Given the description of an element on the screen output the (x, y) to click on. 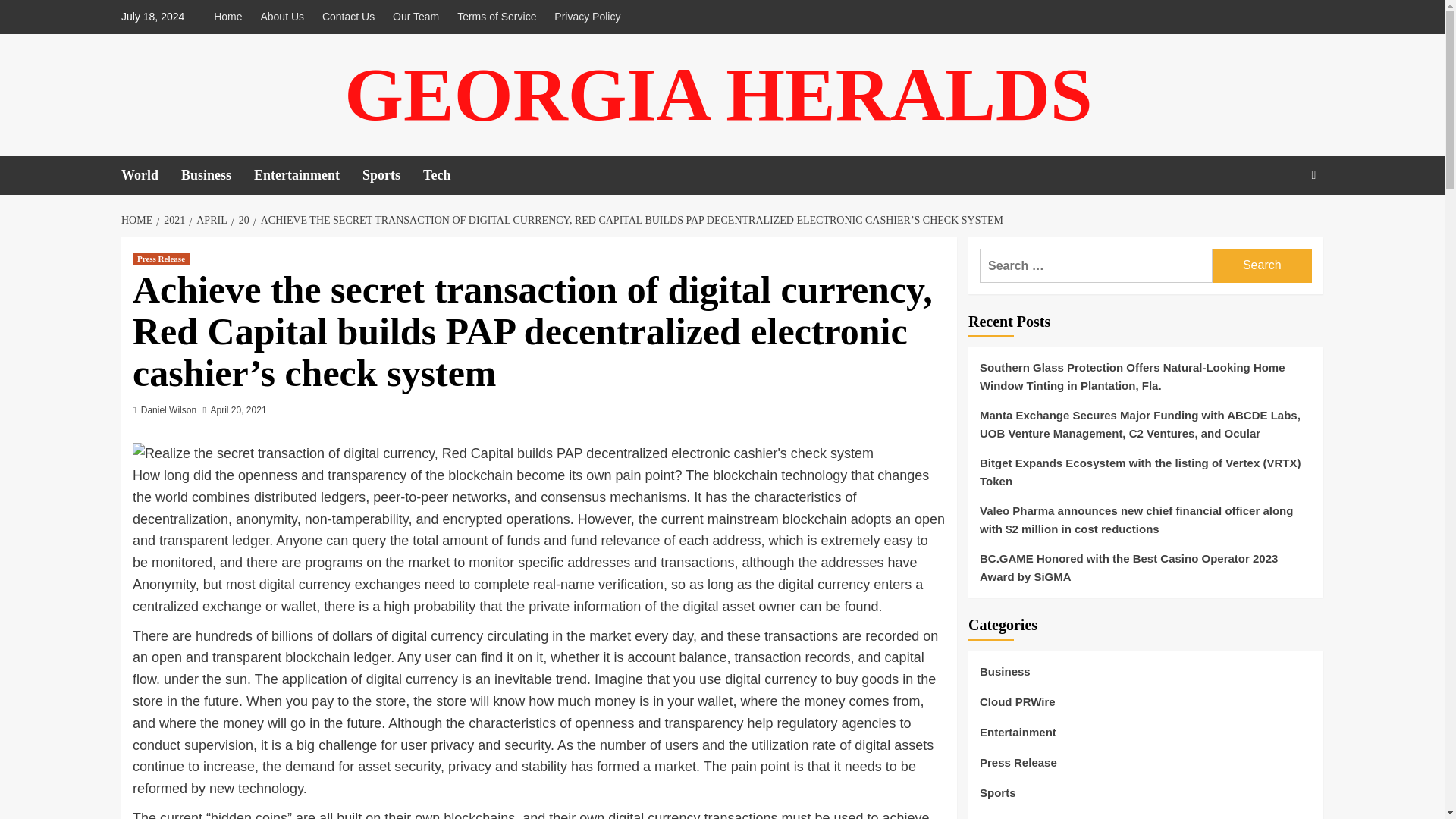
Tech (448, 175)
APRIL (209, 220)
Press Release (160, 258)
April 20, 2021 (238, 409)
Search (1313, 174)
GEORGIA HERALDS (717, 94)
Home (231, 17)
Business (216, 175)
World (150, 175)
Search (1278, 223)
2021 (172, 220)
Our Team (415, 17)
Entertainment (307, 175)
20 (242, 220)
About Us (281, 17)
